Given the description of an element on the screen output the (x, y) to click on. 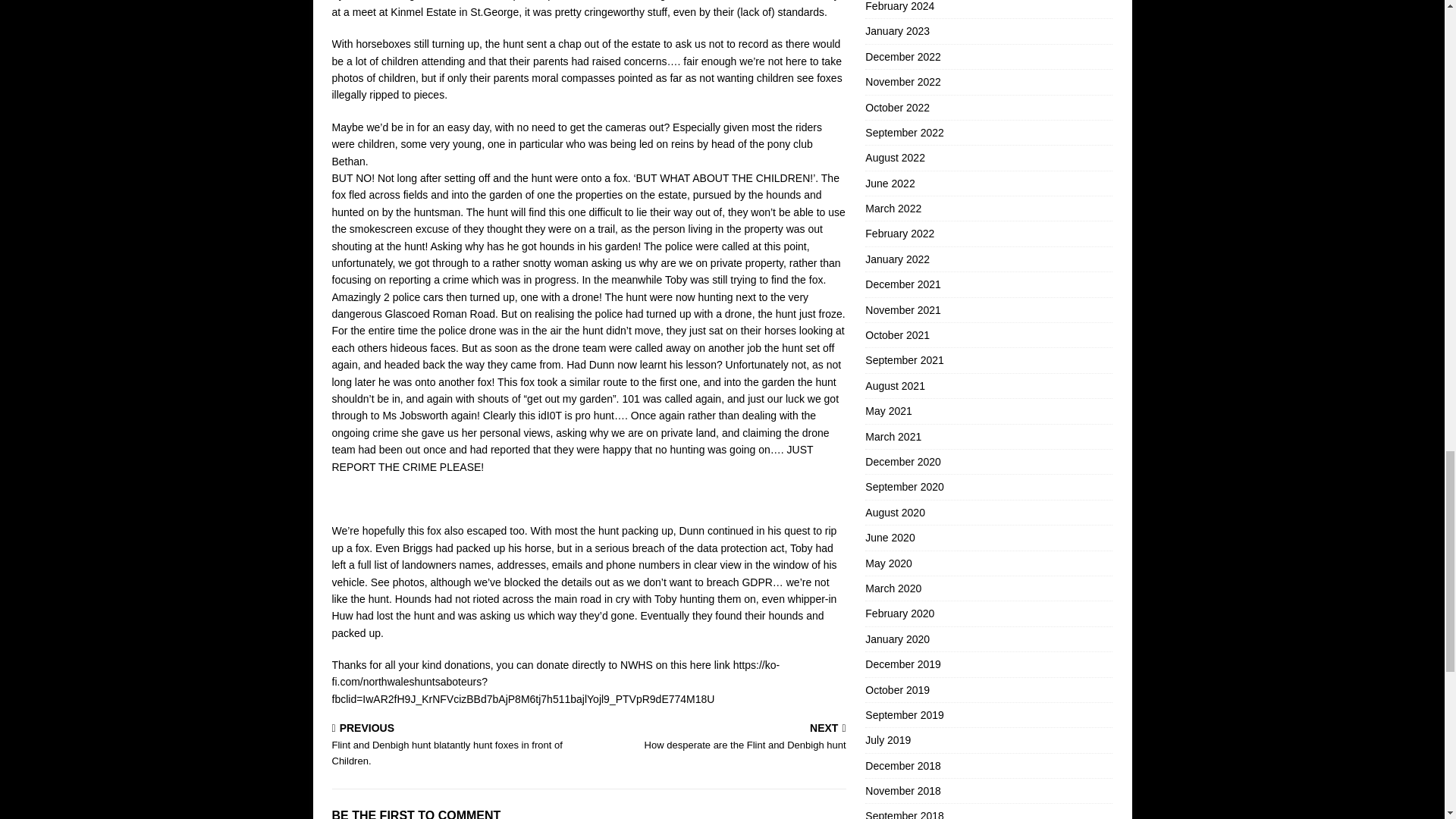
January 2023 (720, 737)
March 2022 (988, 30)
June 2022 (988, 208)
September 2022 (988, 183)
August 2022 (988, 132)
October 2022 (988, 157)
February 2024 (988, 107)
December 2022 (988, 9)
